Given the description of an element on the screen output the (x, y) to click on. 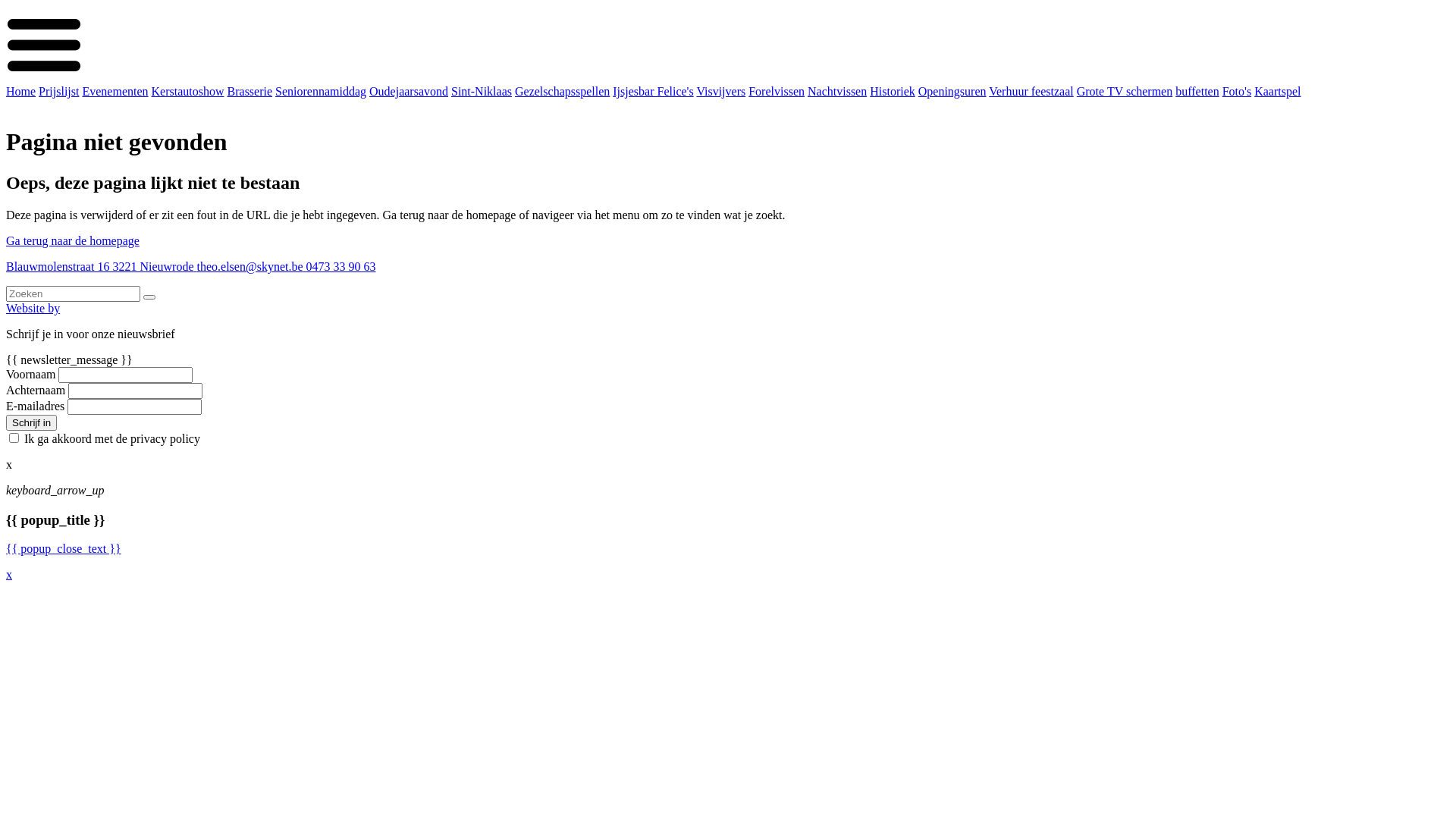
Sint-Niklaas Element type: text (481, 90)
Ijsjesbar Felice's Element type: text (652, 90)
Ga terug naar de homepage Element type: text (72, 240)
Grote TV schermen Element type: text (1124, 90)
Seniorennamiddag Element type: text (320, 90)
Website by Element type: text (32, 307)
Prijslijst Element type: text (58, 90)
0473 33 90 63 Element type: text (341, 266)
Evenementen Element type: text (114, 90)
Home Element type: text (20, 90)
Kaartspel Element type: text (1277, 90)
Brasserie Element type: text (250, 90)
Gezelschapsspellen Element type: text (561, 90)
Historiek Element type: text (892, 90)
Verhuur feestzaal Element type: text (1030, 90)
Blauwmolenstraat 16 3221 Nieuwrode Element type: text (101, 266)
Schrijf in Element type: text (31, 422)
Foto's Element type: text (1236, 90)
x Element type: text (9, 573)
buffetten Element type: text (1196, 90)
Kerstautoshow Element type: text (187, 90)
Forelvissen Element type: text (776, 90)
Oudejaarsavond Element type: text (408, 90)
Openingsuren Element type: text (952, 90)
Nachtvissen Element type: text (836, 90)
Visvijvers Element type: text (720, 90)
theo.elsen@skynet.be Element type: text (251, 266)
